Given the description of an element on the screen output the (x, y) to click on. 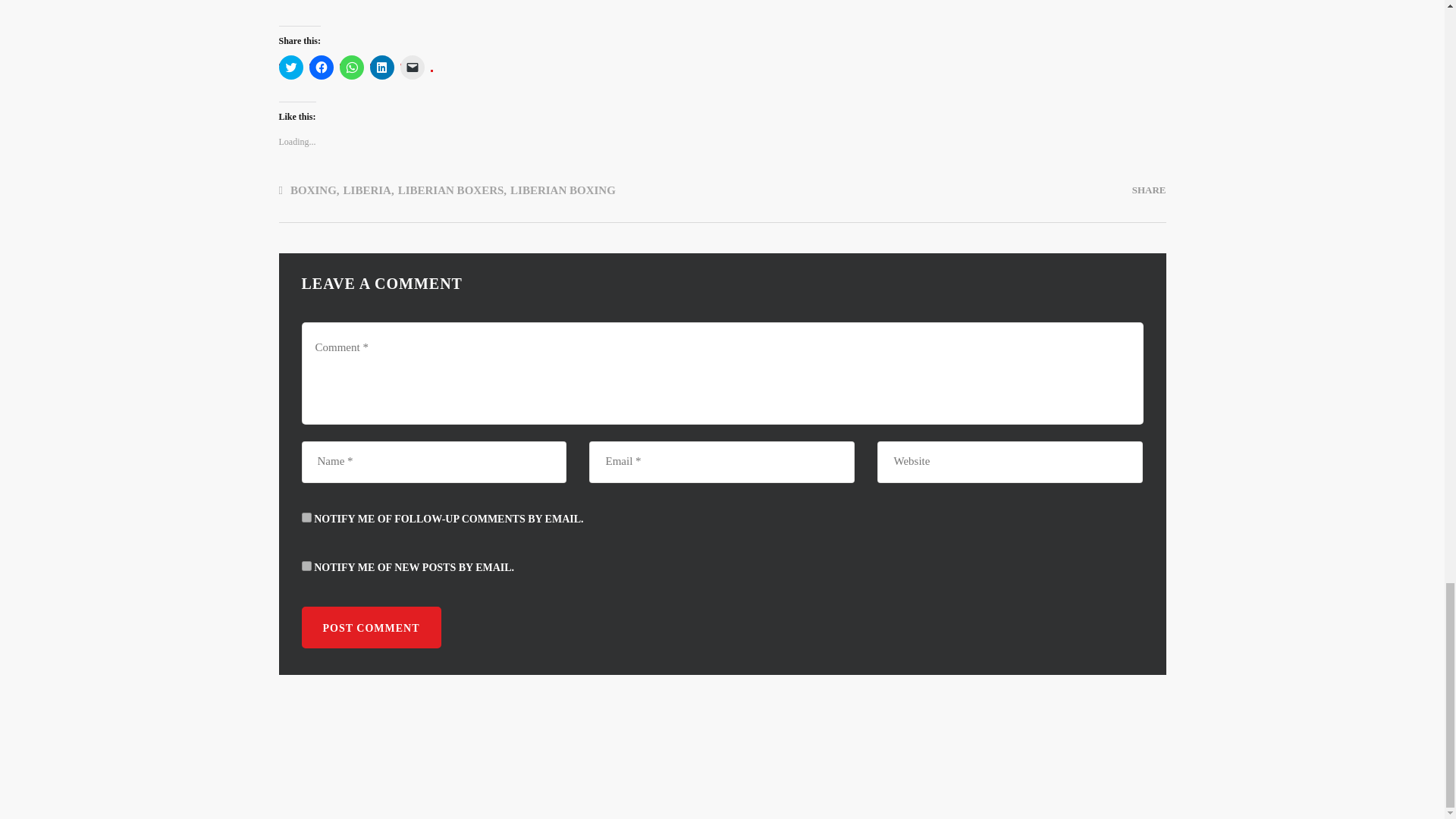
Post Comment (371, 627)
Click to email a link to a friend (412, 67)
Click to share on Facebook (320, 67)
subscribe (306, 517)
Click to share on Twitter (290, 67)
subscribe (306, 565)
Click to share on WhatsApp (351, 67)
Click to share on LinkedIn (381, 67)
